Given the description of an element on the screen output the (x, y) to click on. 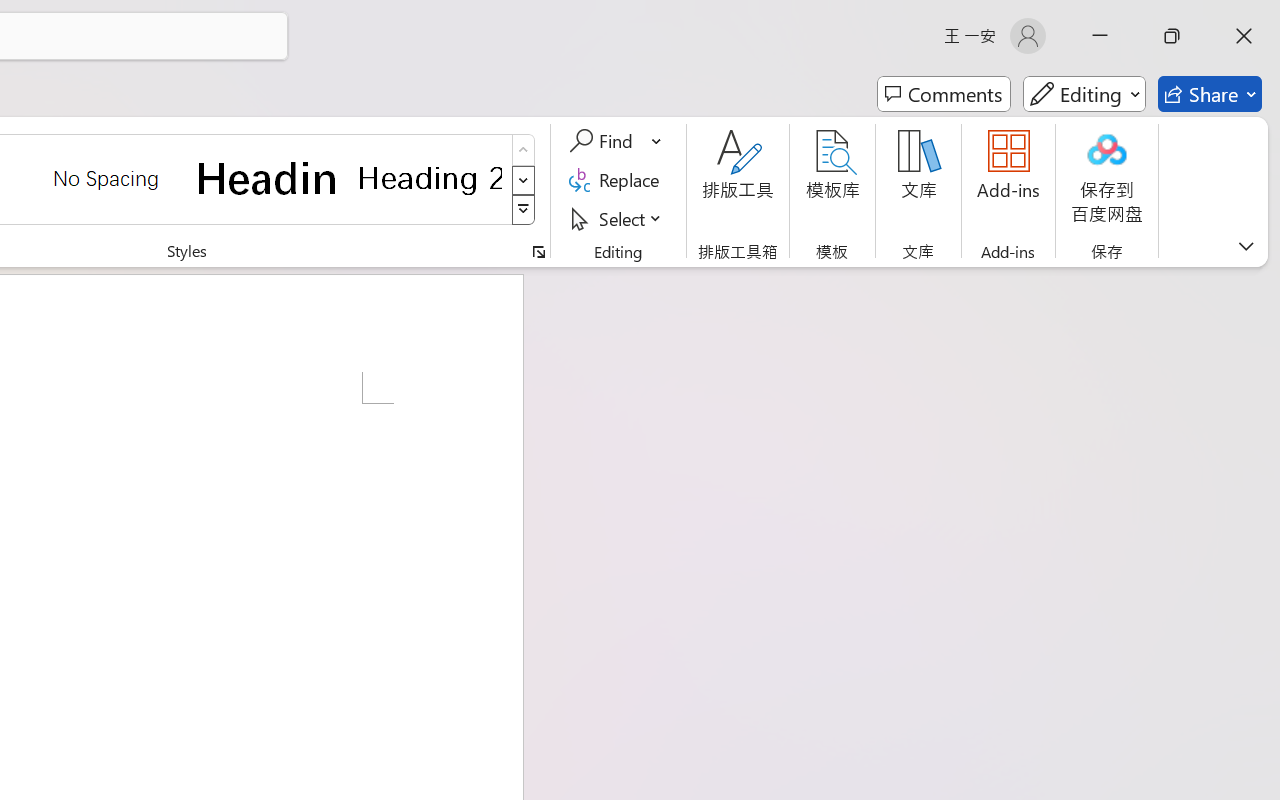
Replace... (617, 179)
Select (618, 218)
